Given the description of an element on the screen output the (x, y) to click on. 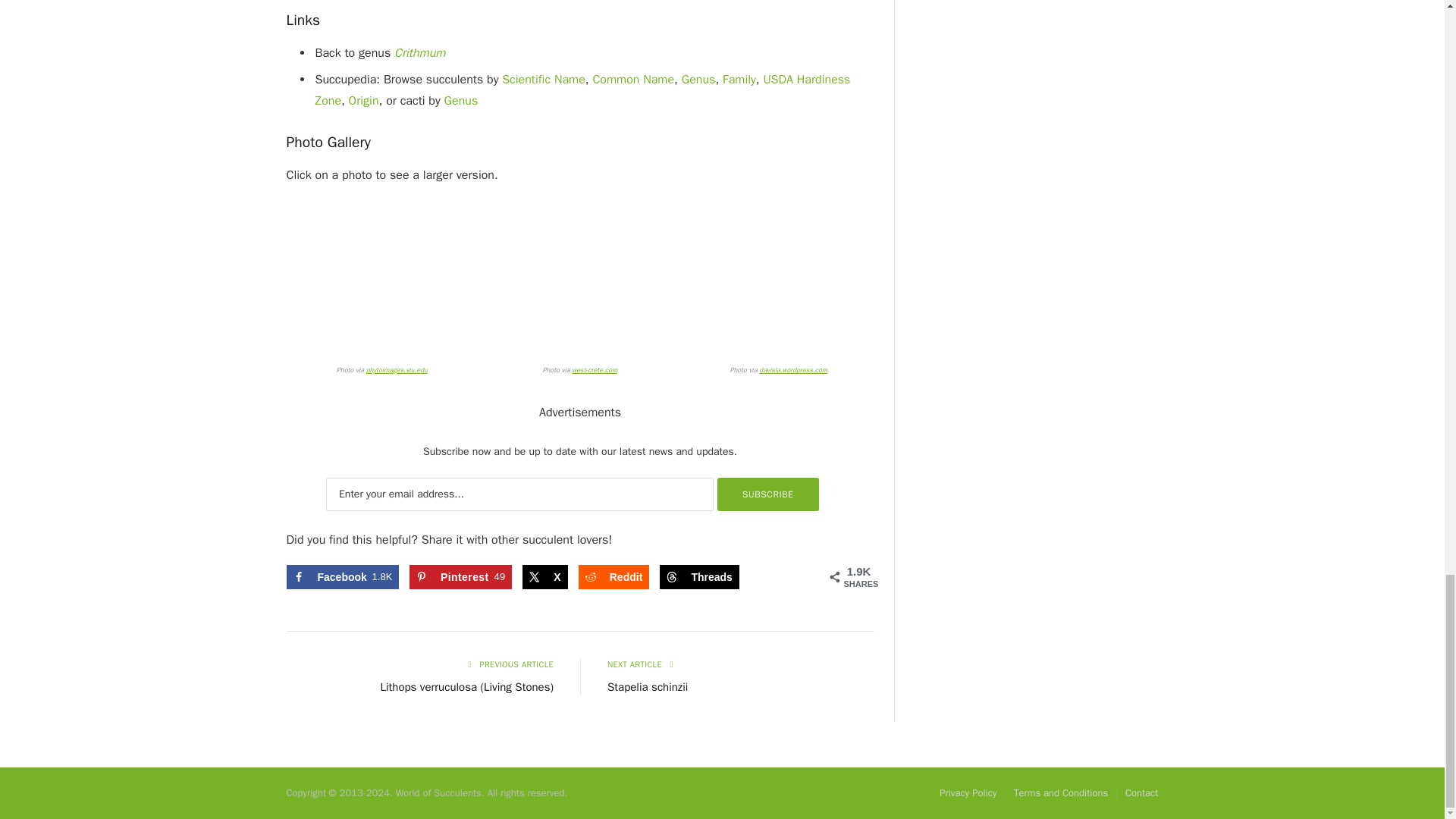
Share on Facebook (342, 576)
Share on Reddit (613, 576)
Subscribe (768, 494)
Share on X (544, 576)
Share on Threads (698, 576)
Save to Pinterest (460, 576)
